Given the description of an element on the screen output the (x, y) to click on. 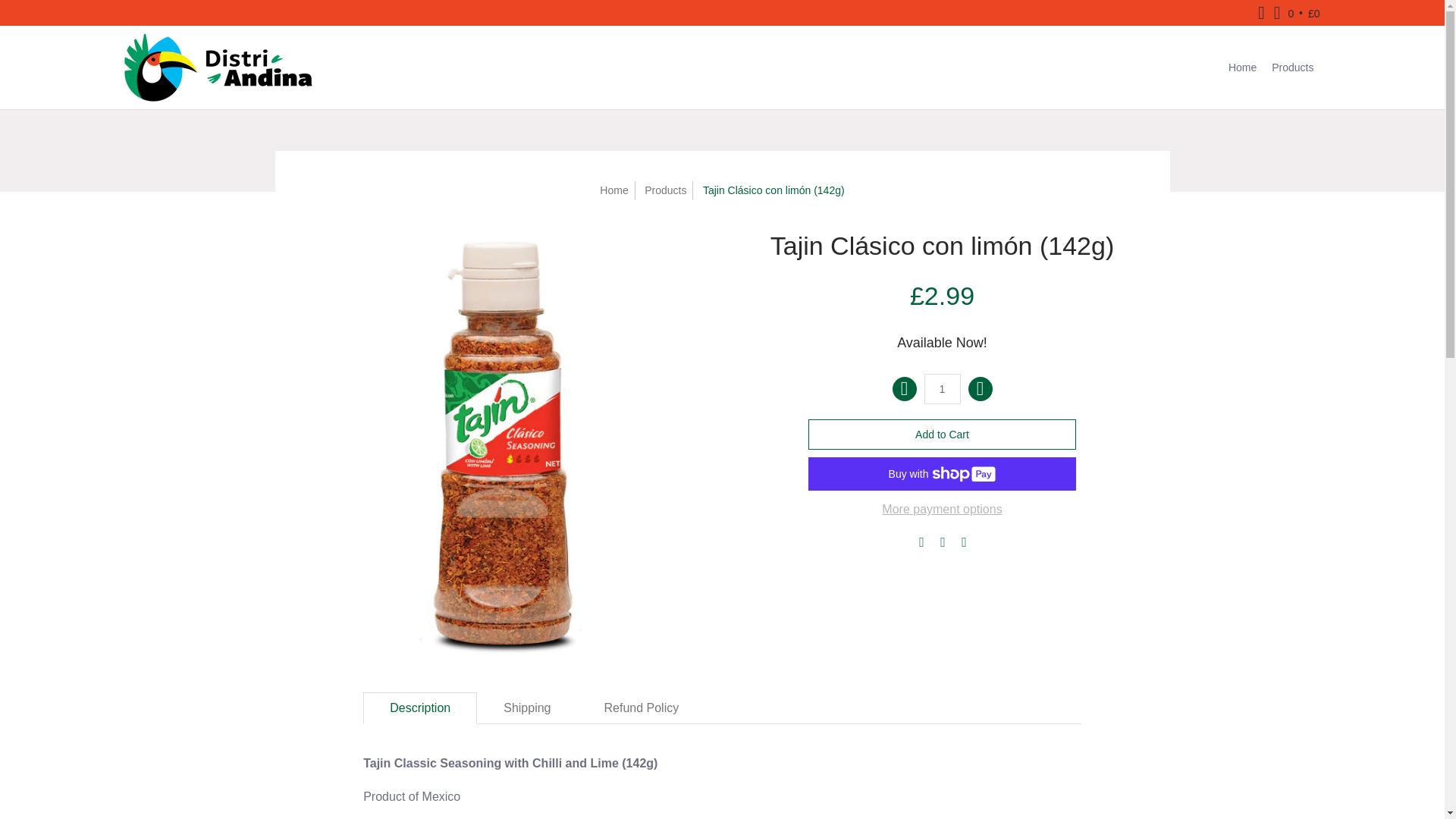
Products (665, 190)
Home (613, 190)
Search (1261, 12)
Products (1291, 66)
Add to Cart (941, 434)
Shipping (526, 707)
1 (941, 388)
DistriAndina (217, 66)
Home (1242, 66)
Cart (1296, 12)
Description (419, 707)
Refund Policy (642, 707)
Home (1242, 66)
Add to Cart (941, 434)
Products (1291, 66)
